Given the description of an element on the screen output the (x, y) to click on. 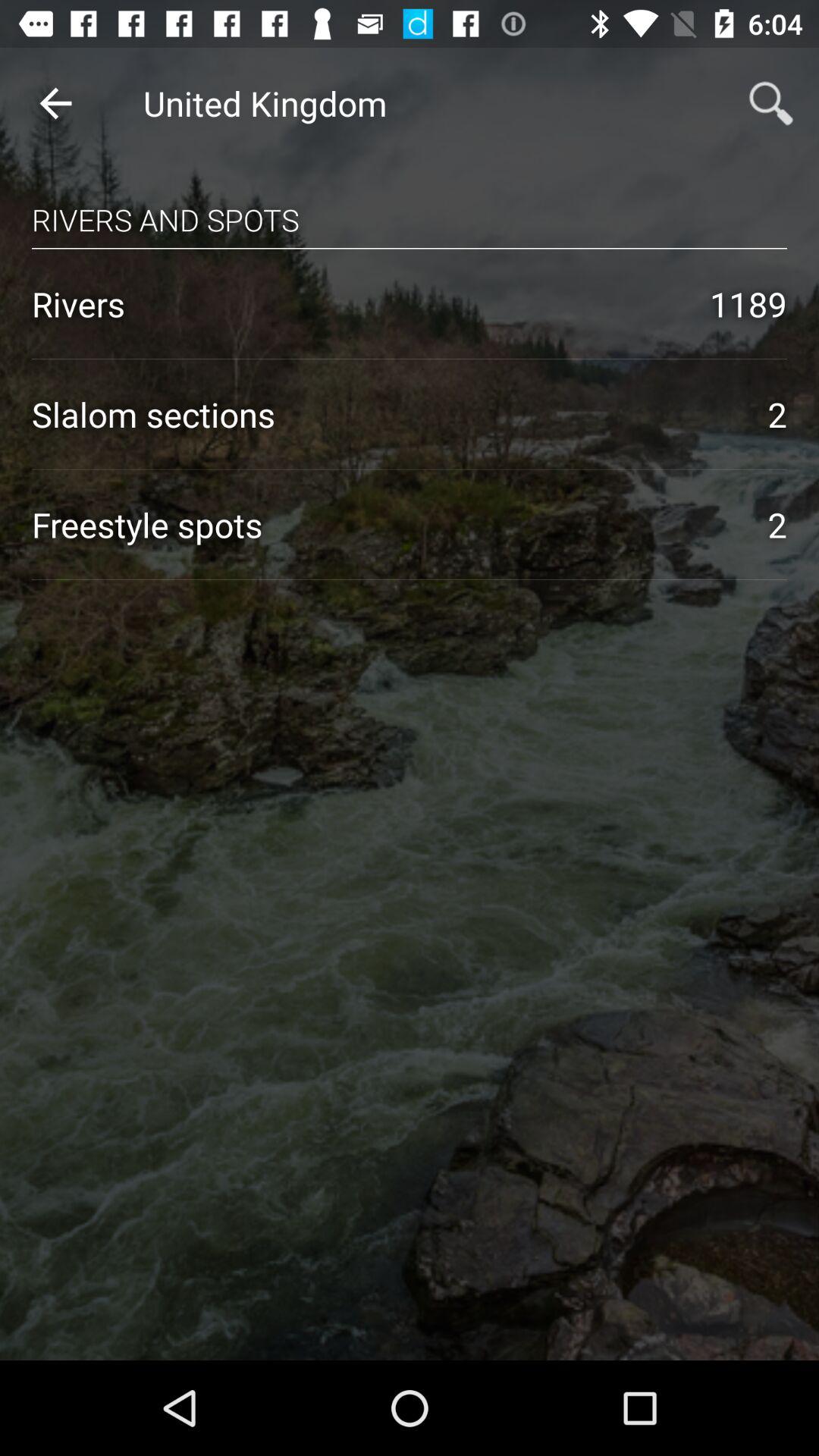
turn off the item to the left of 2 (383, 414)
